Given the description of an element on the screen output the (x, y) to click on. 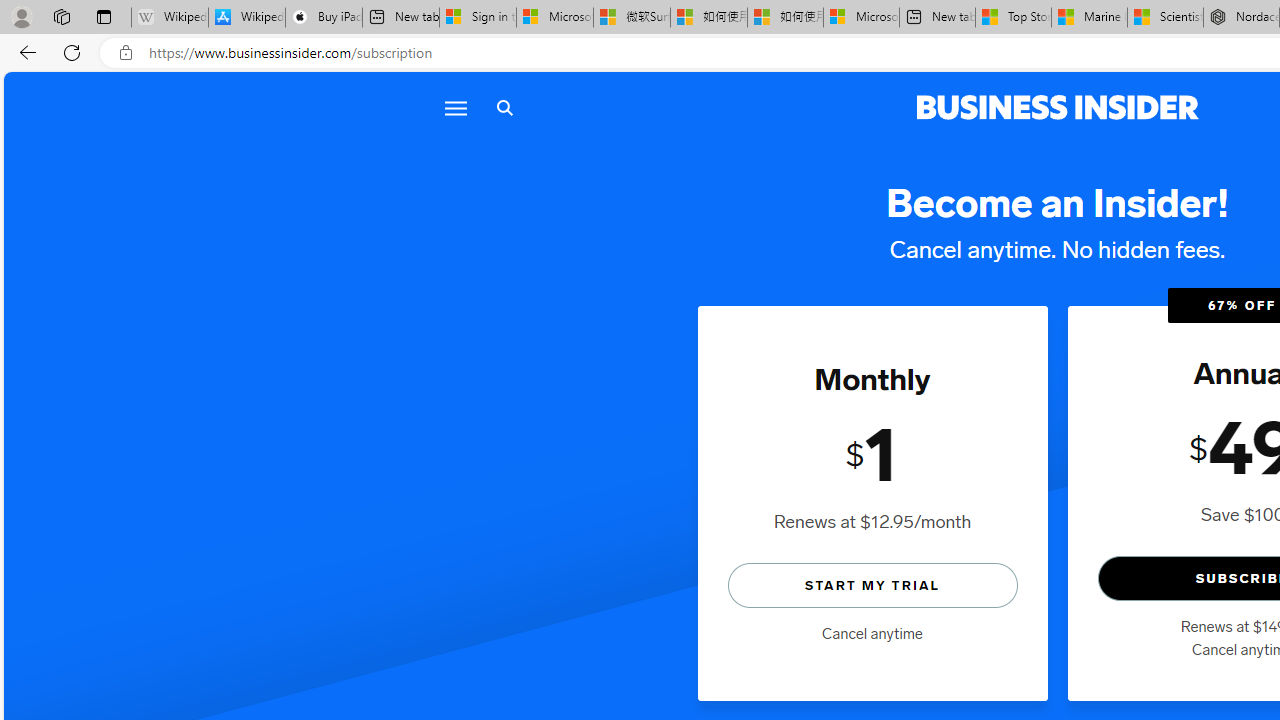
Menu (454, 107)
Cancel anytime (872, 633)
Menu icon (455, 107)
